Given the description of an element on the screen output the (x, y) to click on. 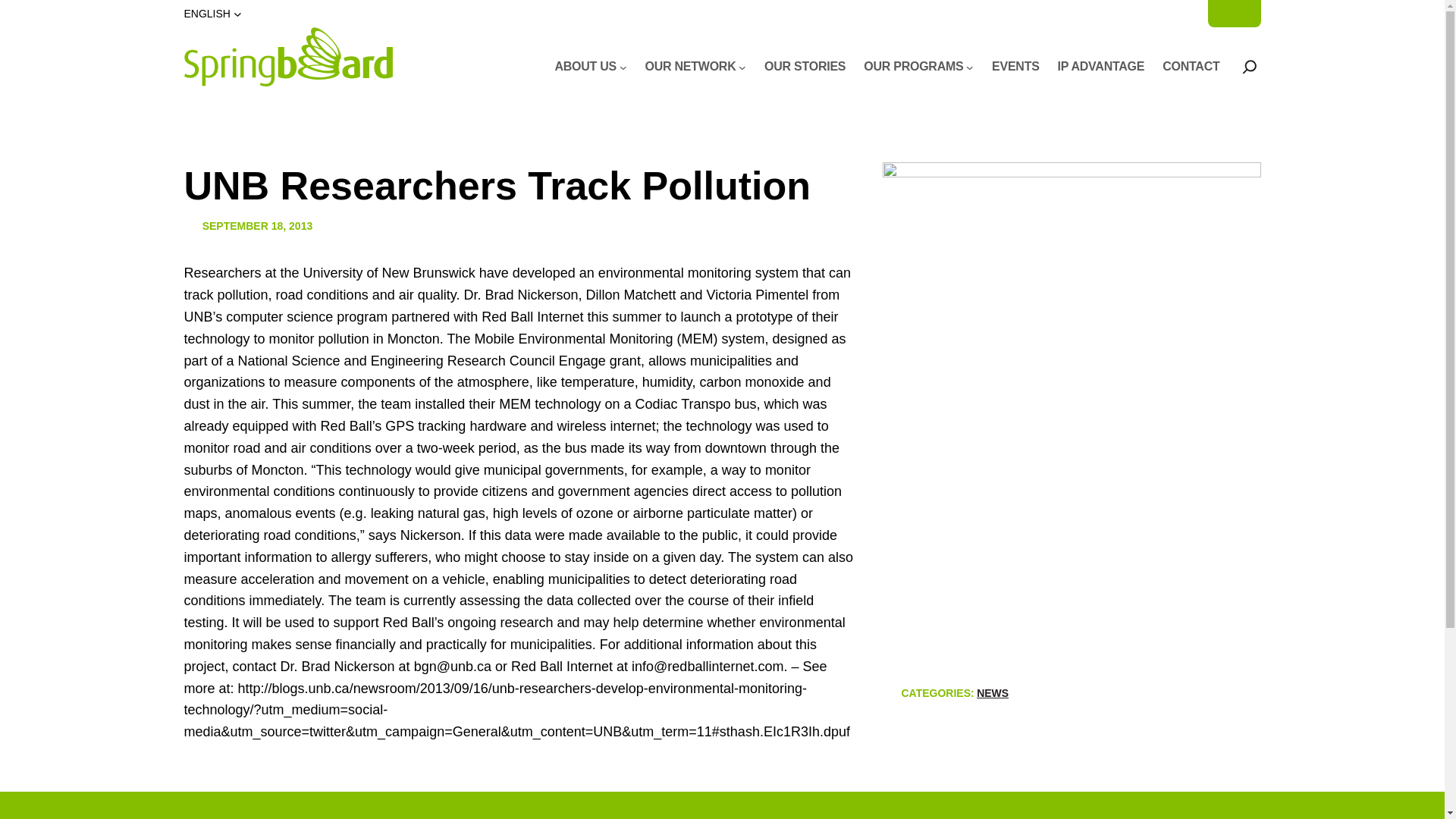
NEWS (992, 693)
ABOUT US (584, 66)
EVENTS (1015, 66)
CONTACT (1190, 66)
OUR NETWORK (690, 66)
OUR STORIES (804, 66)
LOG IN (1233, 13)
IP ADVANTAGE (1101, 66)
OUR PROGRAMS (912, 66)
